Given the description of an element on the screen output the (x, y) to click on. 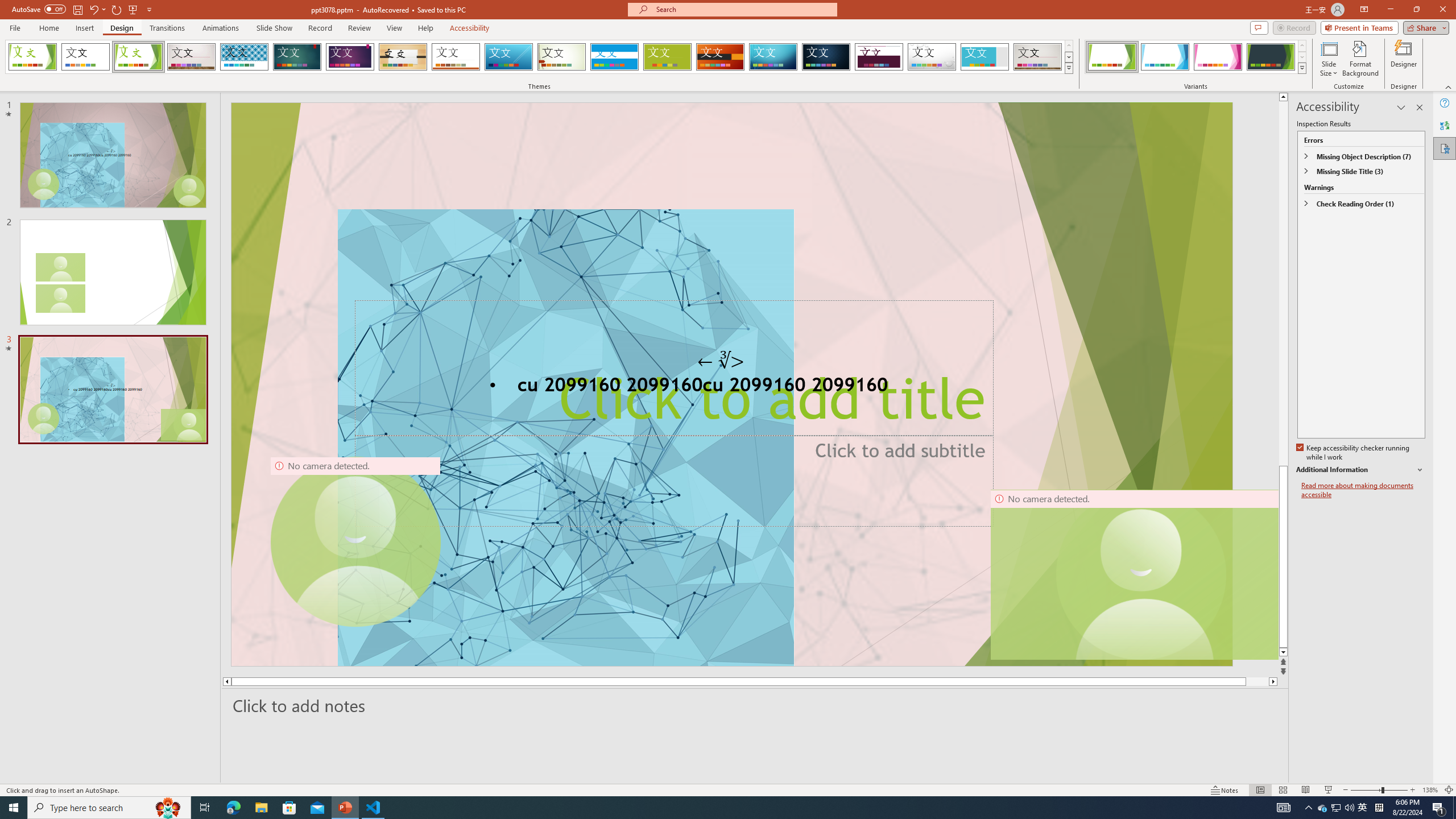
Berlin (720, 56)
Wisp (561, 56)
Facet Variant 4 (1270, 56)
Themes (1068, 67)
